Given the description of an element on the screen output the (x, y) to click on. 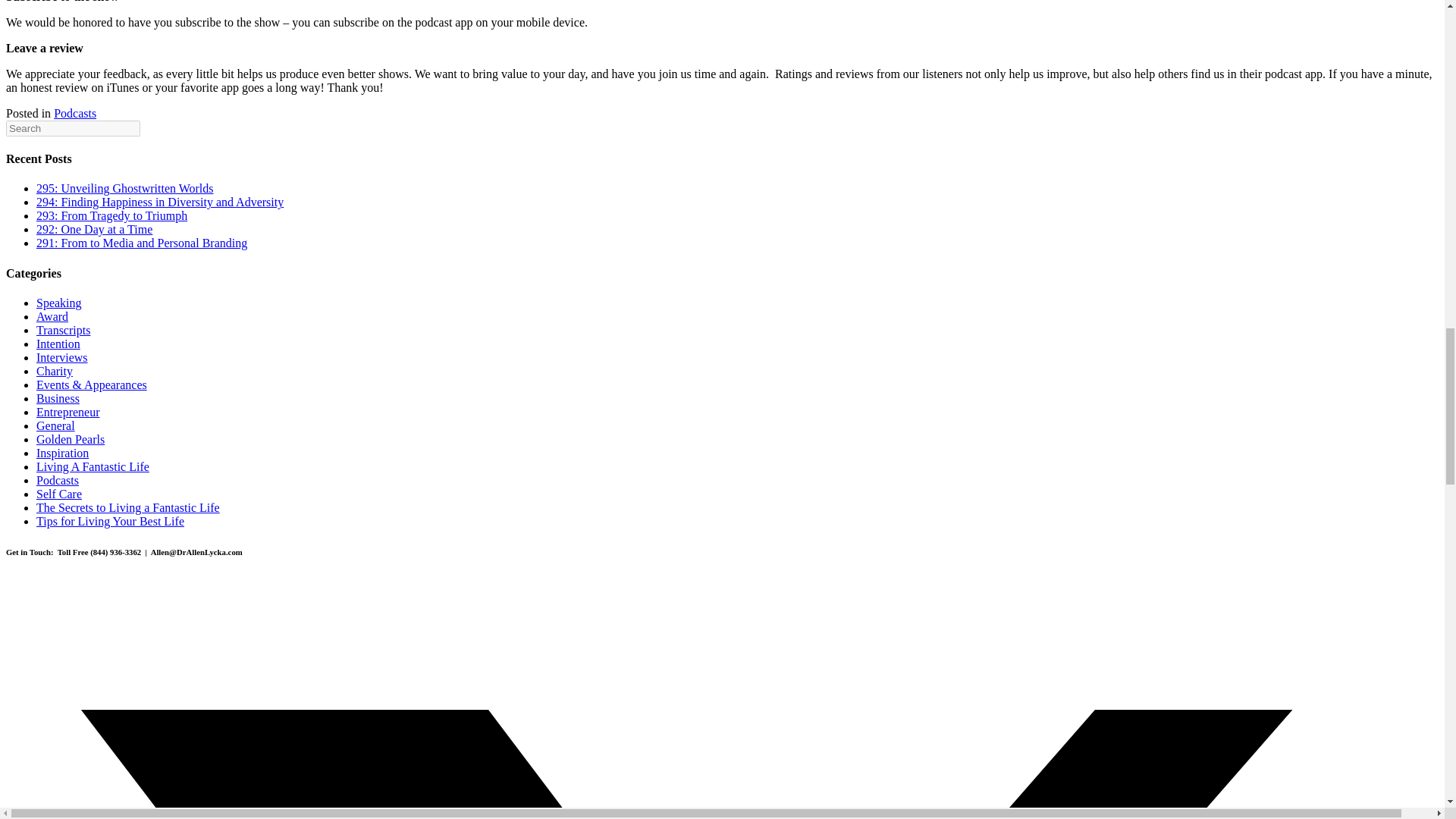
Type and press Enter to search. (721, 128)
